Given the description of an element on the screen output the (x, y) to click on. 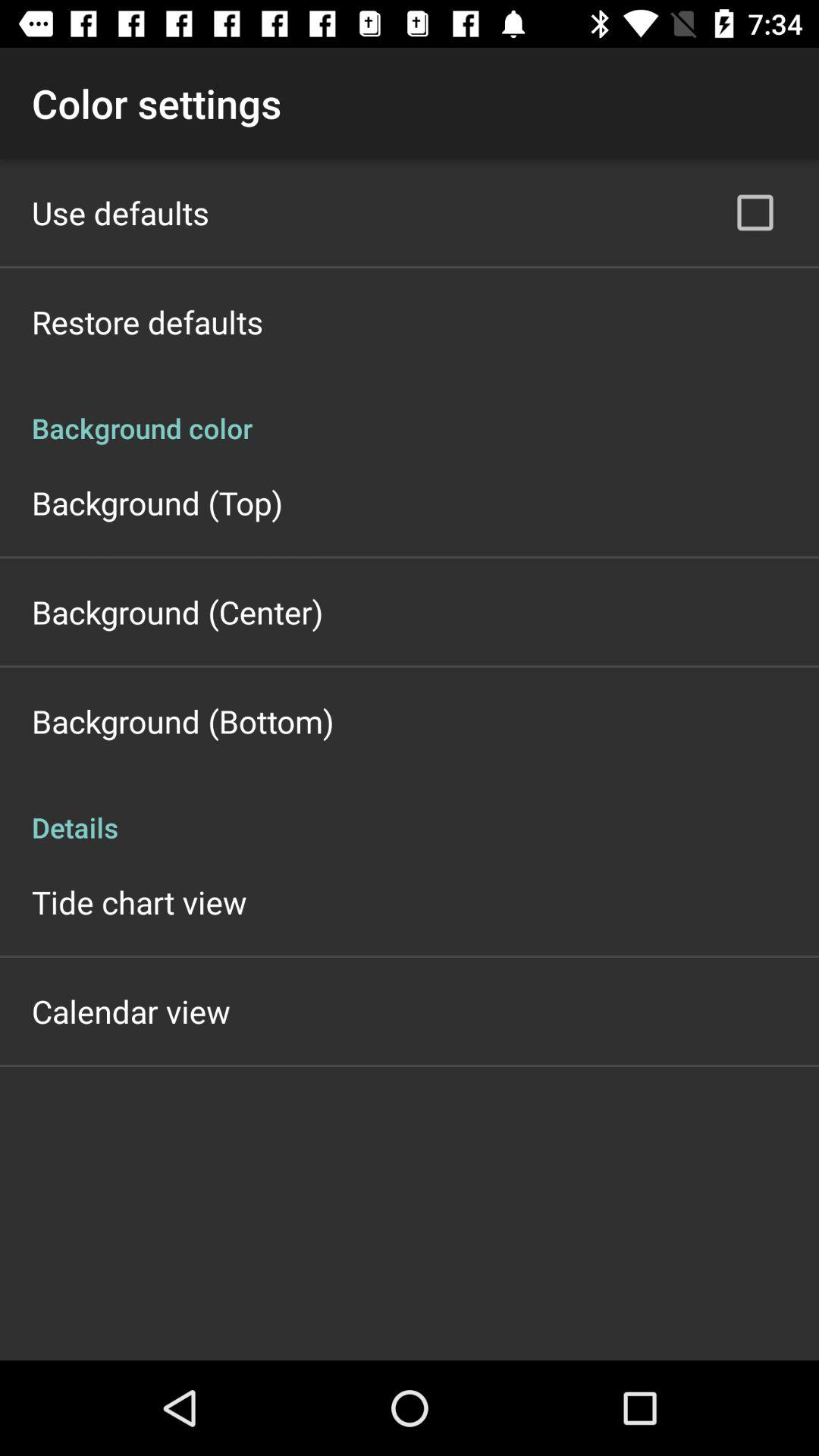
open the icon next to the use defaults (755, 212)
